Given the description of an element on the screen output the (x, y) to click on. 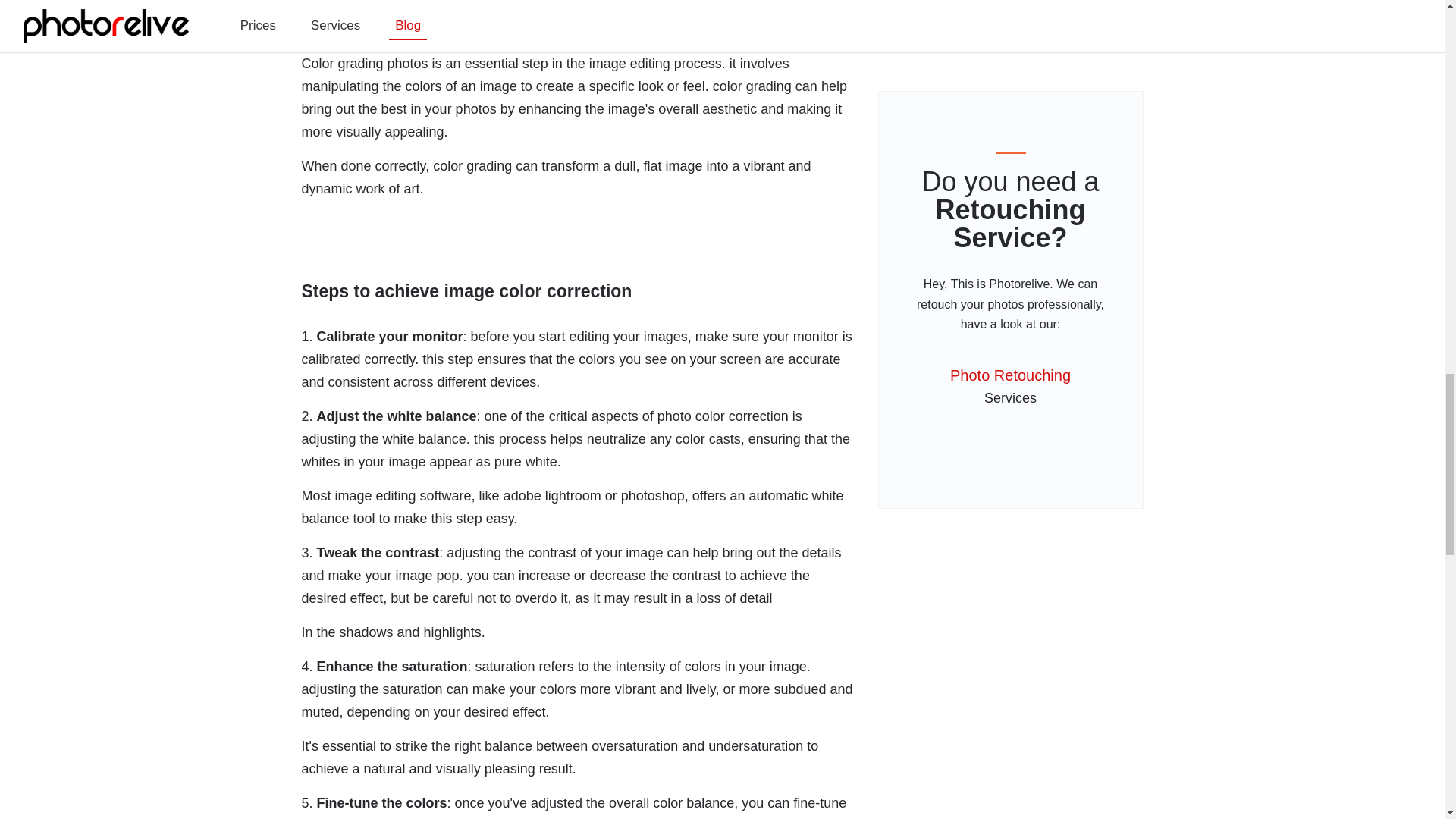
Steps to achieve image color correction (578, 256)
The importance of color grading photography (578, 14)
